Given the description of an element on the screen output the (x, y) to click on. 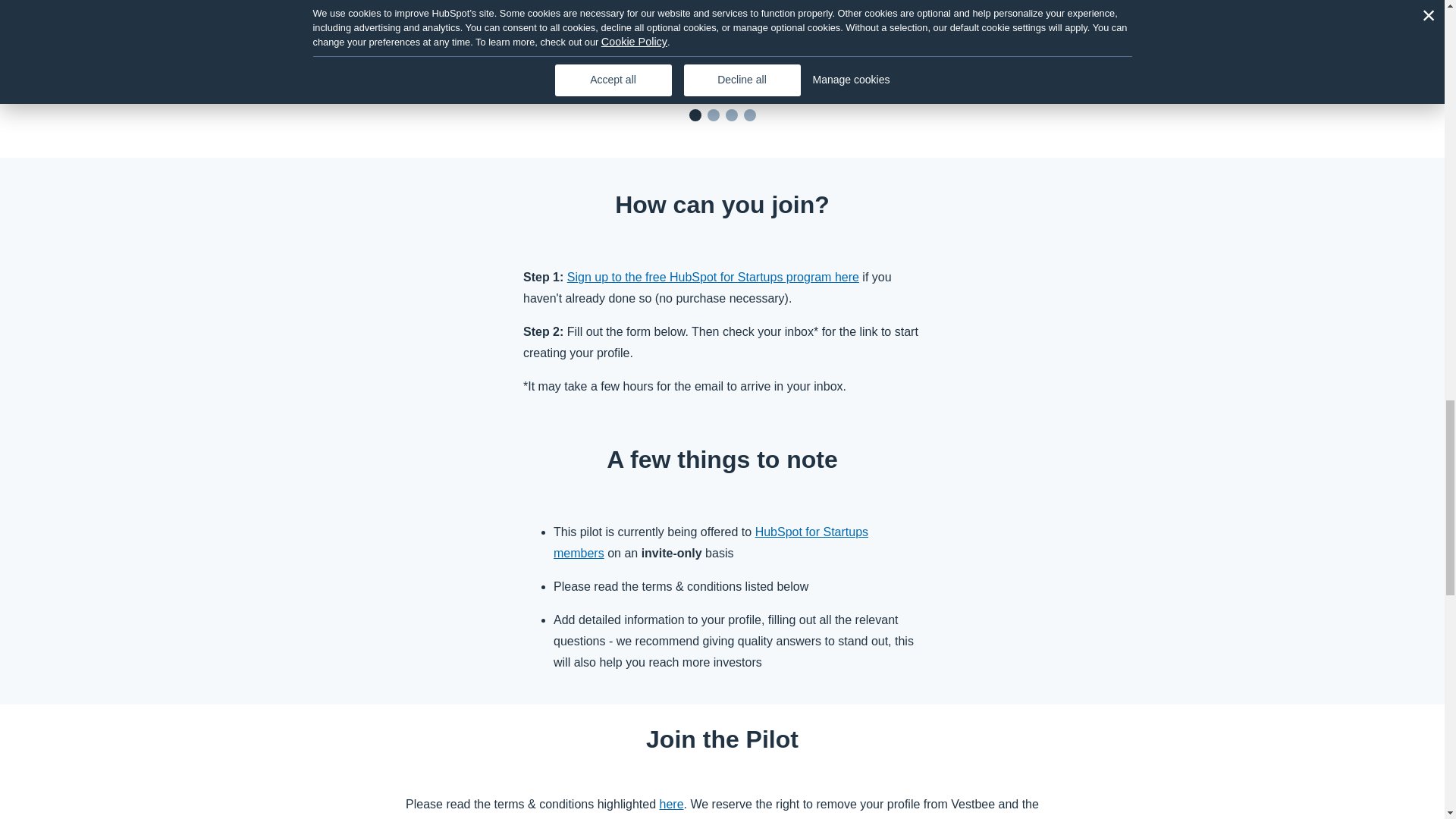
HubSpot for Startups members (710, 542)
here (671, 803)
Previous (331, 51)
Next (1112, 51)
Sign up to the free HubSpot for Startups program here (713, 277)
